Given the description of an element on the screen output the (x, y) to click on. 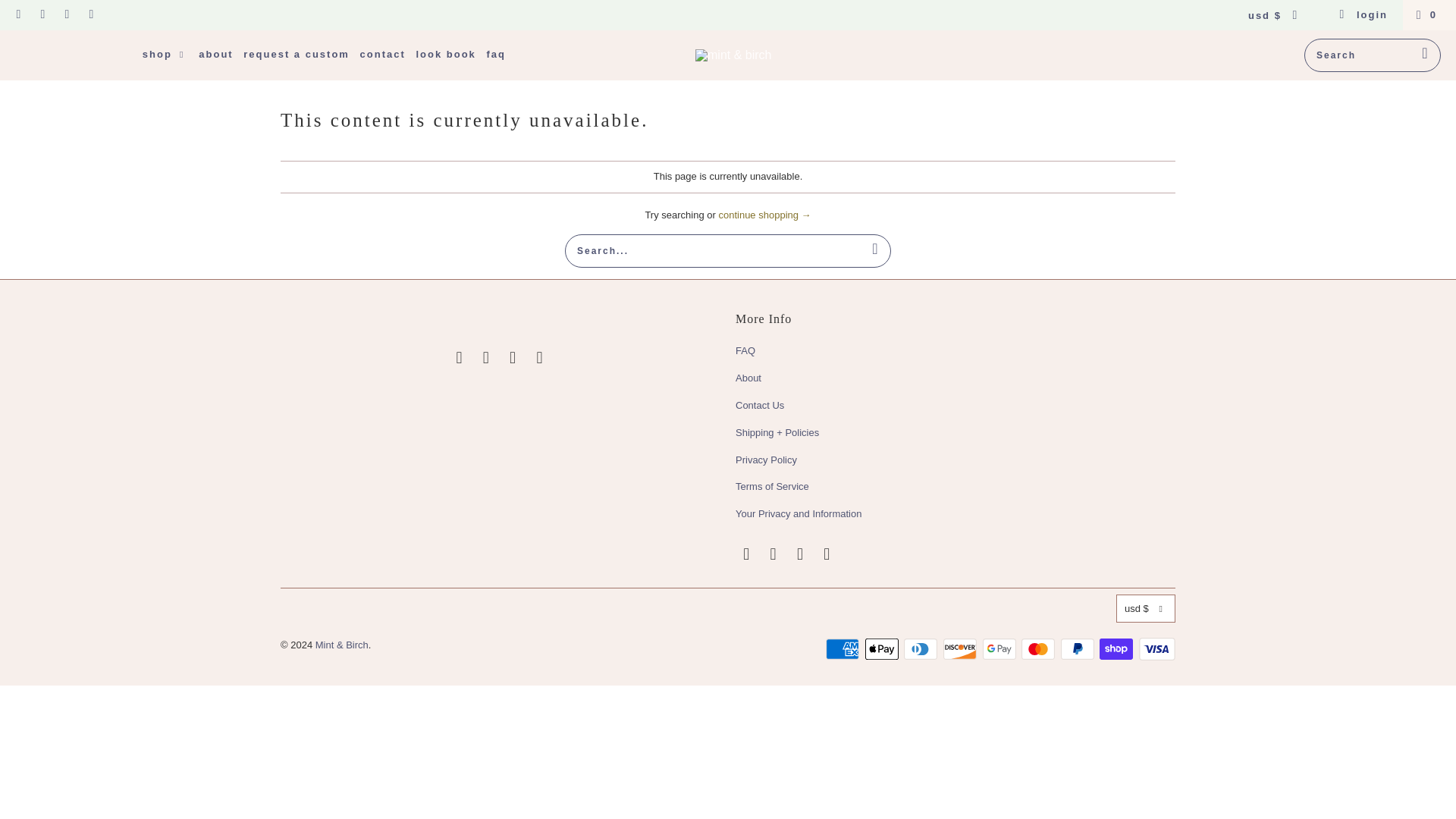
Visa (1156, 649)
My Account  (1363, 15)
Google Pay (1000, 649)
Mastercard (1040, 649)
Discover (961, 649)
Shop Pay (1117, 649)
Apple Pay (882, 649)
American Express (843, 649)
PayPal (1079, 649)
Diners Club (922, 649)
